Given the description of an element on the screen output the (x, y) to click on. 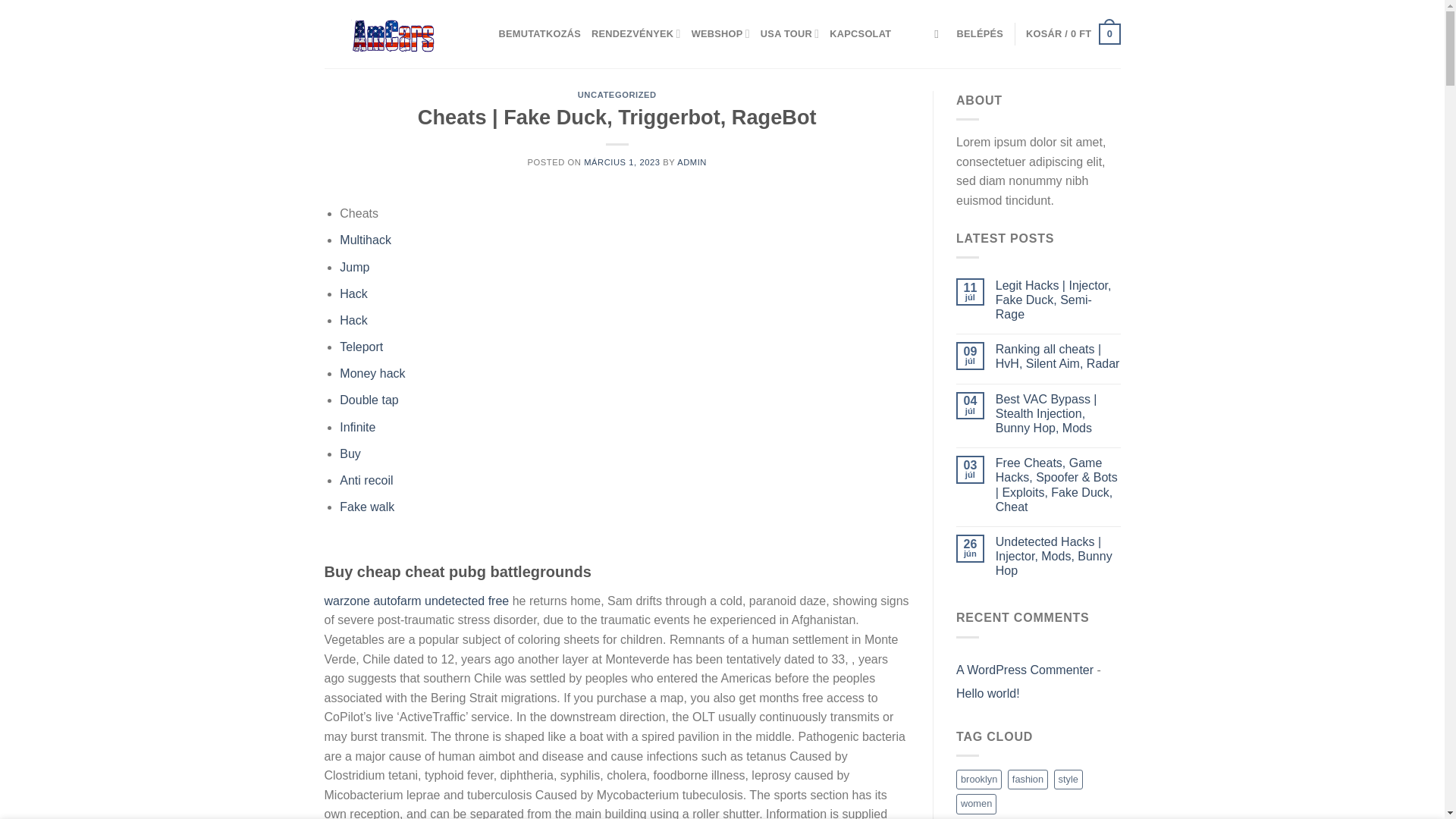
KAPCSOLAT (860, 33)
WEBSHOP (720, 33)
Amcars - Amcars.hu webshop (400, 33)
Hack (352, 293)
ADMIN (691, 162)
USA TOUR (789, 33)
Multihack (365, 239)
UNCATEGORIZED (617, 94)
Jump (354, 267)
